Given the description of an element on the screen output the (x, y) to click on. 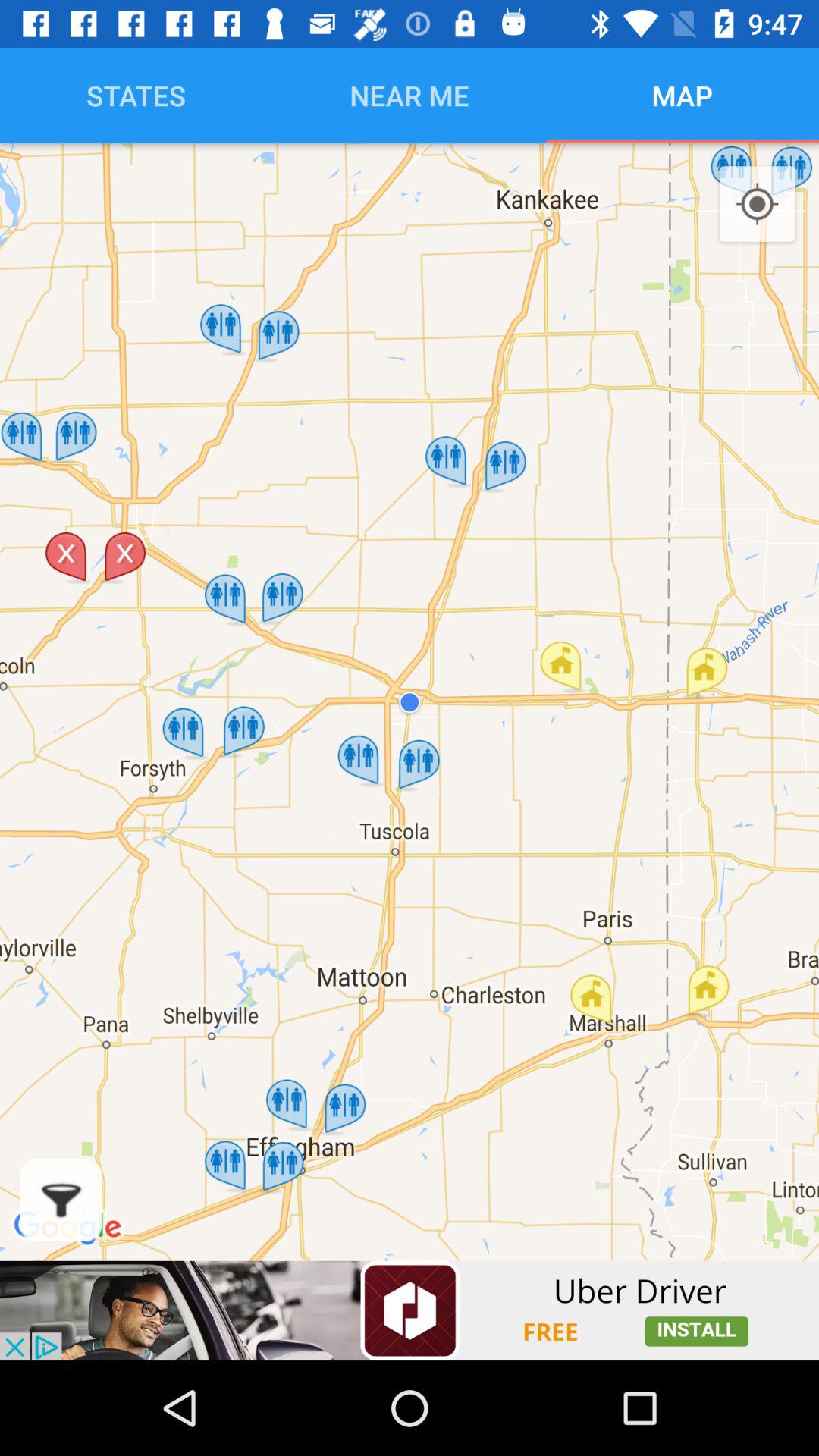
advertisement link (409, 1310)
